Given the description of an element on the screen output the (x, y) to click on. 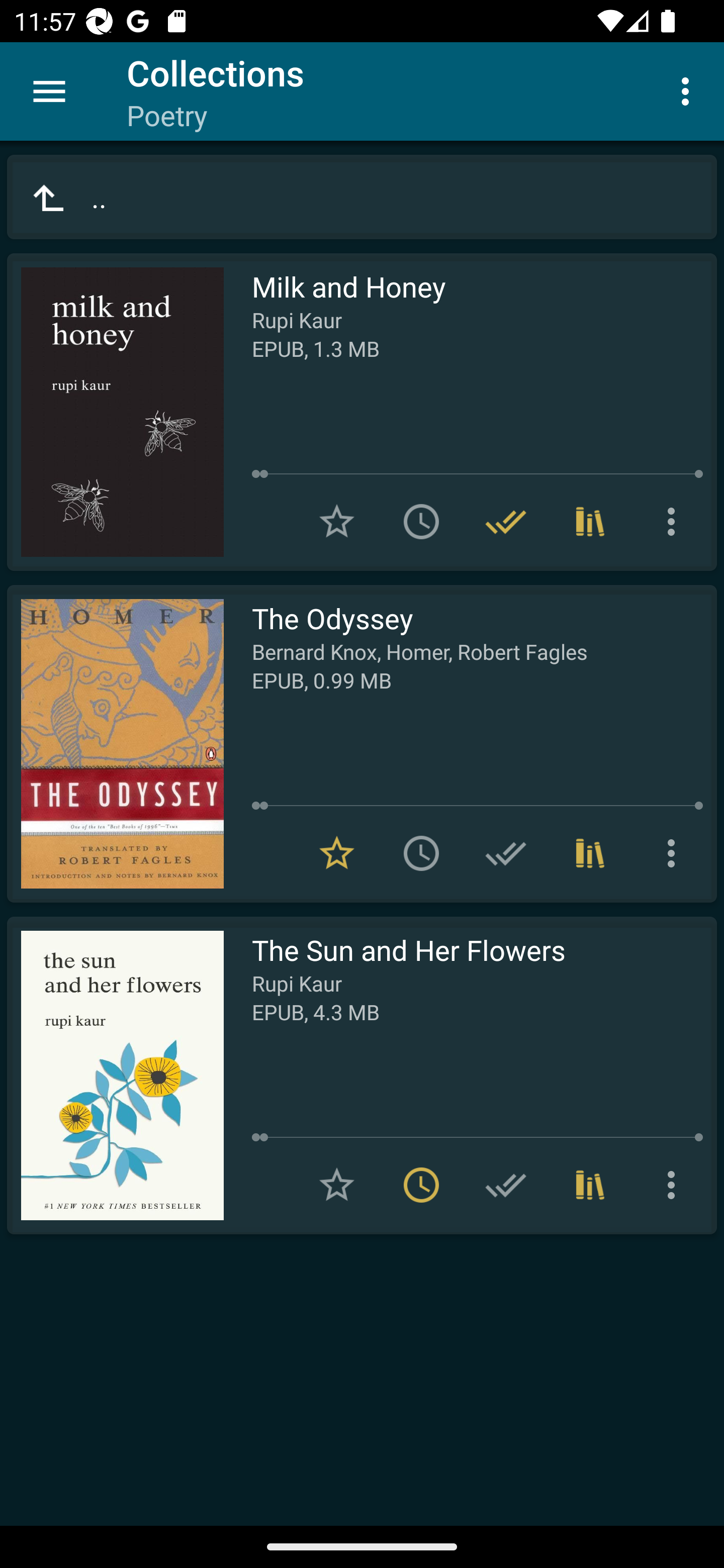
Menu (49, 91)
More options (688, 90)
.. (361, 197)
Read Milk and Honey (115, 412)
Add to Favorites (336, 521)
Add to To read (421, 521)
Remove from Have read (505, 521)
Collections (1) (590, 521)
More options (674, 521)
Read The Odyssey (115, 743)
Remove from Favorites (336, 852)
Add to To read (421, 852)
Add to Have read (505, 852)
Collections (1) (590, 852)
More options (674, 852)
Read The Sun and Her Flowers (115, 1075)
Add to Favorites (336, 1185)
Remove from To read (421, 1185)
Add to Have read (505, 1185)
Collections (1) (590, 1185)
More options (674, 1185)
